Given the description of an element on the screen output the (x, y) to click on. 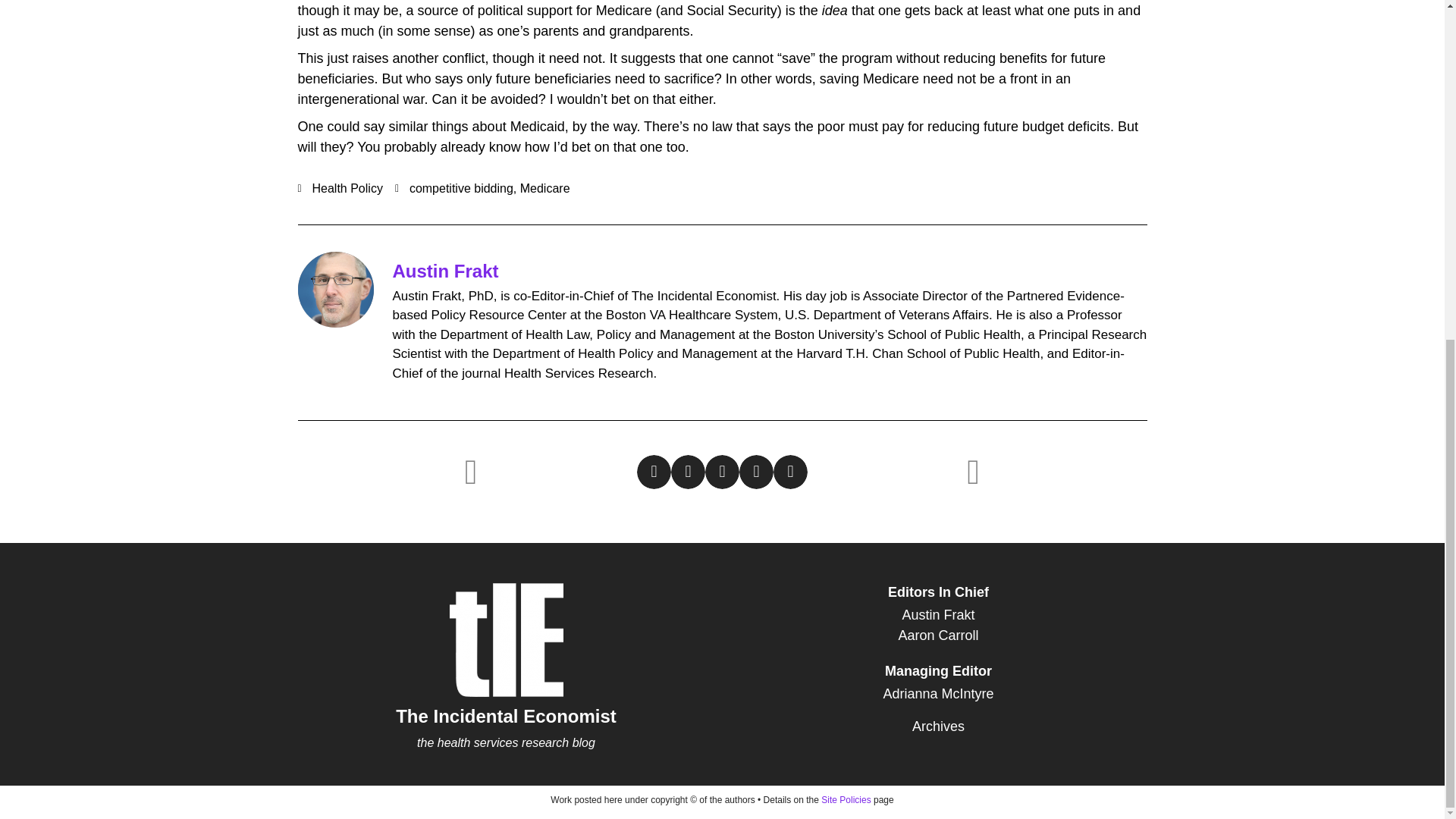
Site Policies (845, 799)
Austin Frakt (938, 615)
Adrianna McIntyre (938, 693)
Health Policy (347, 187)
Aaron Carroll (938, 635)
Medicare (544, 187)
Archives (938, 726)
Austin Frakt (446, 271)
competitive bidding (461, 187)
